Given the description of an element on the screen output the (x, y) to click on. 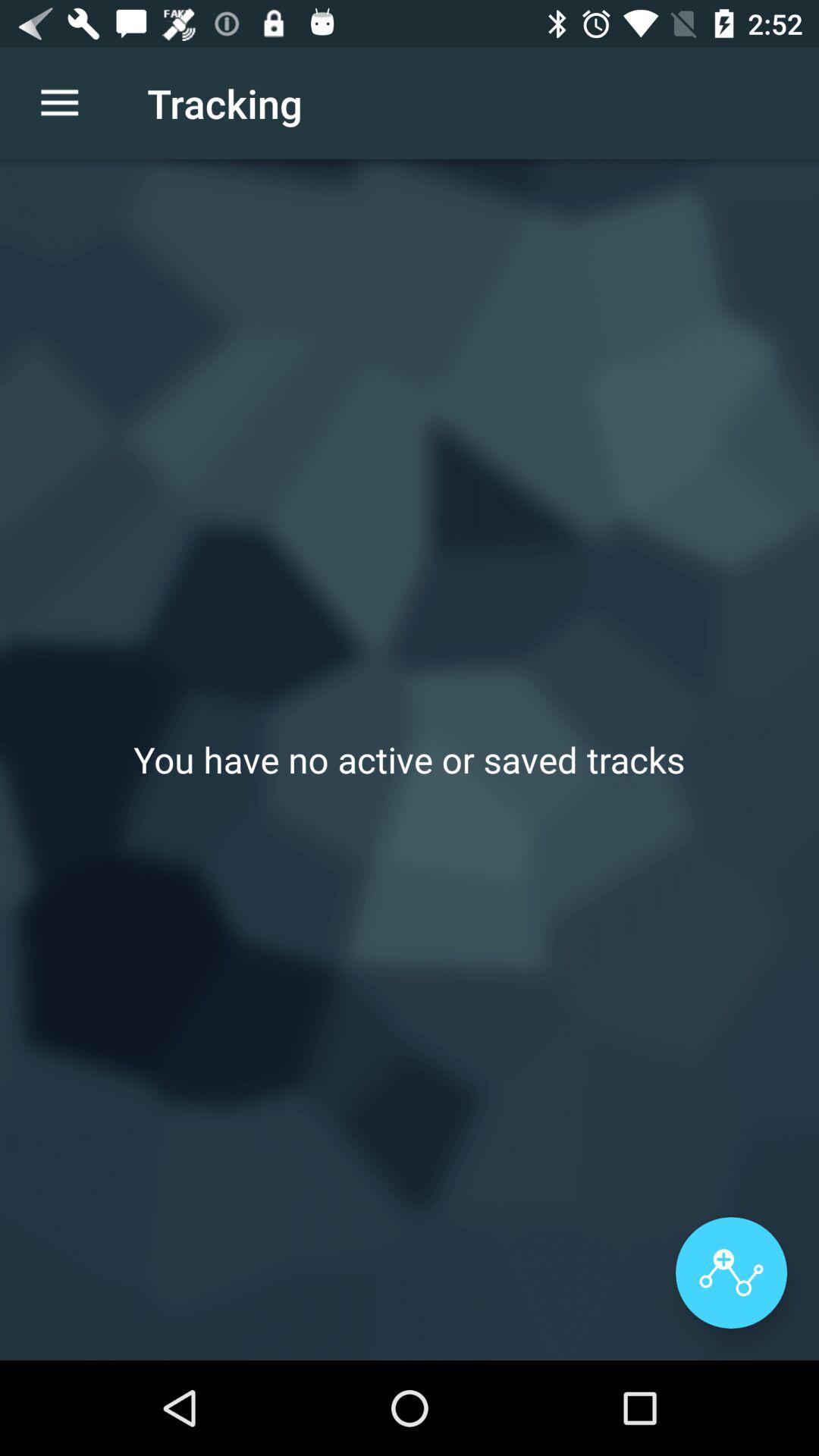
add new (731, 1272)
